Given the description of an element on the screen output the (x, y) to click on. 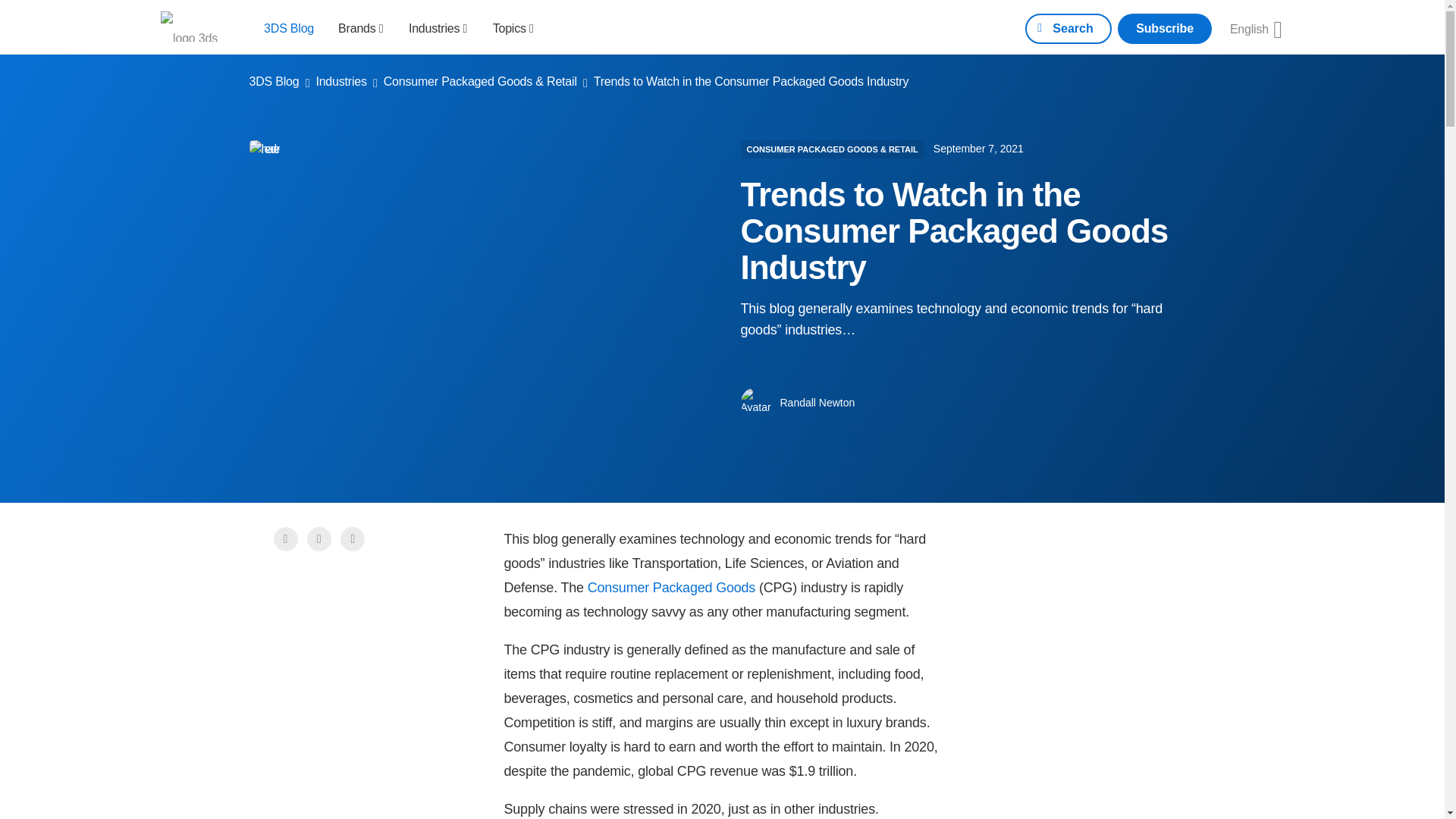
Subscribe (1164, 28)
Share on Linkedin (352, 537)
Brands (360, 27)
Share on Facebook (285, 537)
Topics (513, 27)
Industries (438, 27)
Share on Twitter (319, 537)
3DS Blog (288, 27)
